Given the description of an element on the screen output the (x, y) to click on. 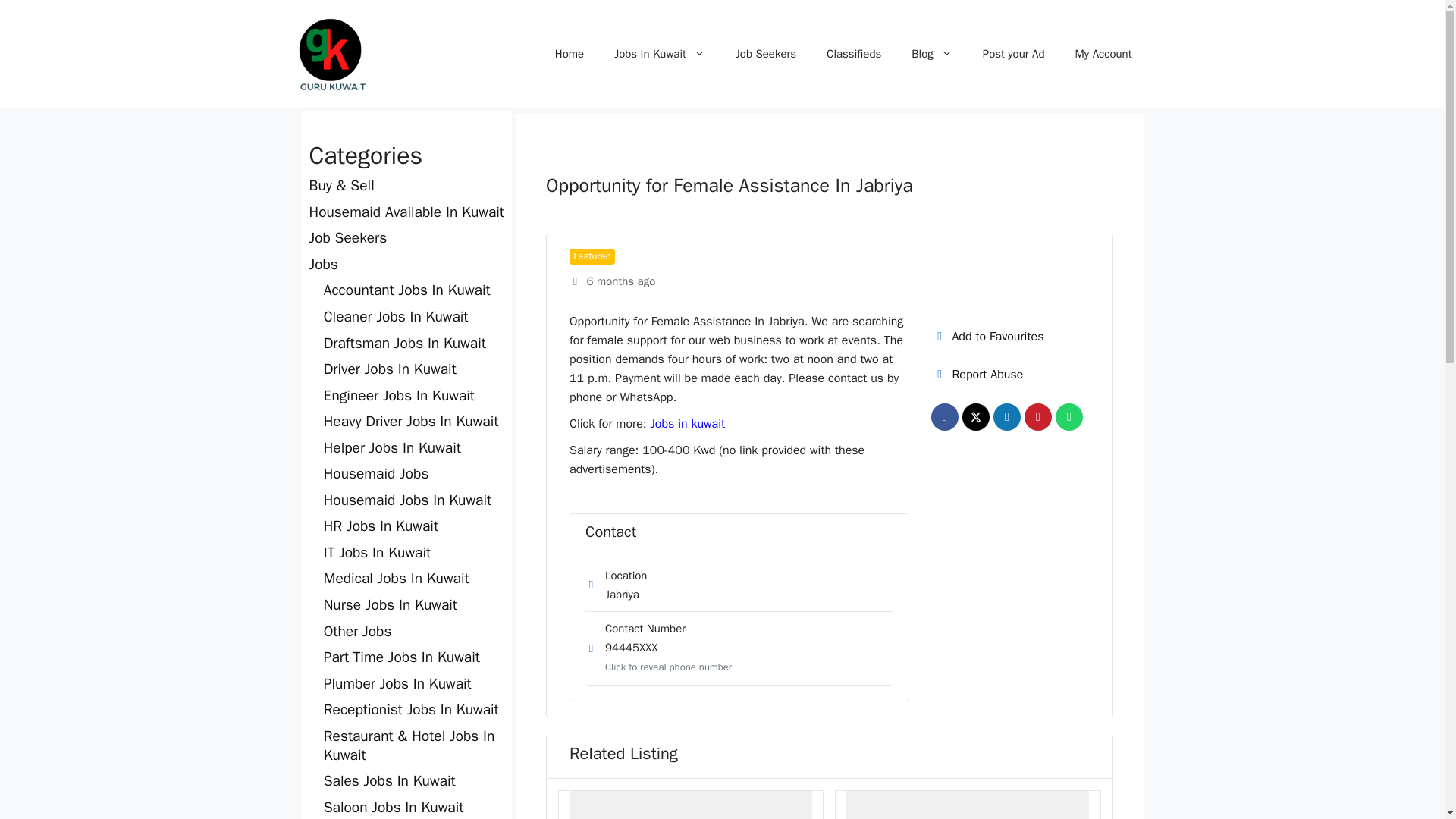
My Account (1103, 53)
Blog (931, 53)
Add to Favourites (987, 336)
Jobs in kuwait (687, 423)
Report Abuse (977, 374)
Jobs In Kuwait (659, 53)
Classifieds (853, 53)
Opportunity for Female Assistance In Jabriya 1 (690, 805)
Home (569, 53)
Job Seekers (765, 53)
Opportunity for Female Assistance In Jabriya 2 (967, 805)
Post your Ad (1013, 53)
